Given the description of an element on the screen output the (x, y) to click on. 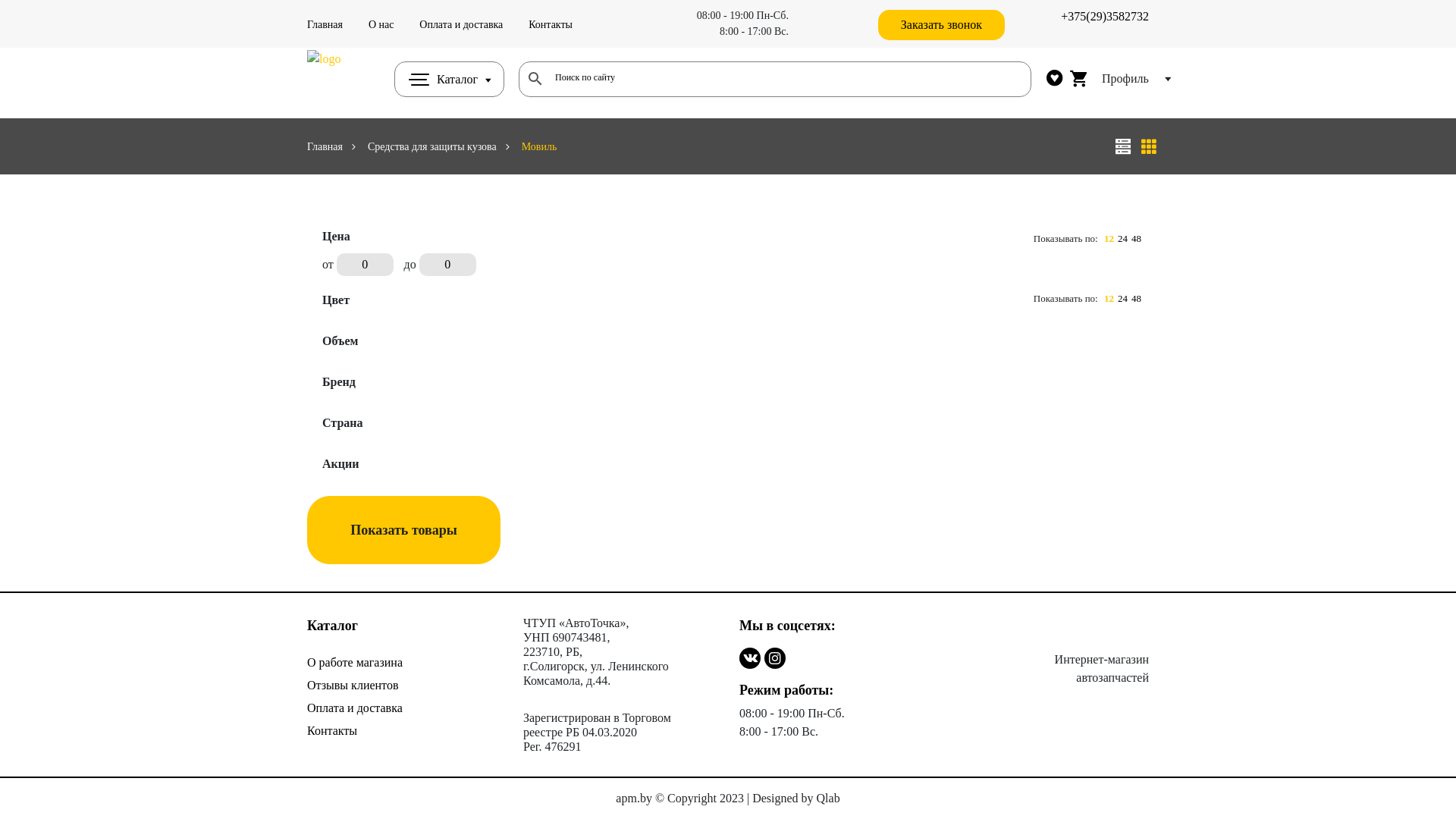
+375(29)3582732 Element type: text (1104, 15)
24 Element type: text (1122, 237)
48 Element type: text (1136, 298)
24 Element type: text (1122, 298)
48 Element type: text (1136, 237)
